Given the description of an element on the screen output the (x, y) to click on. 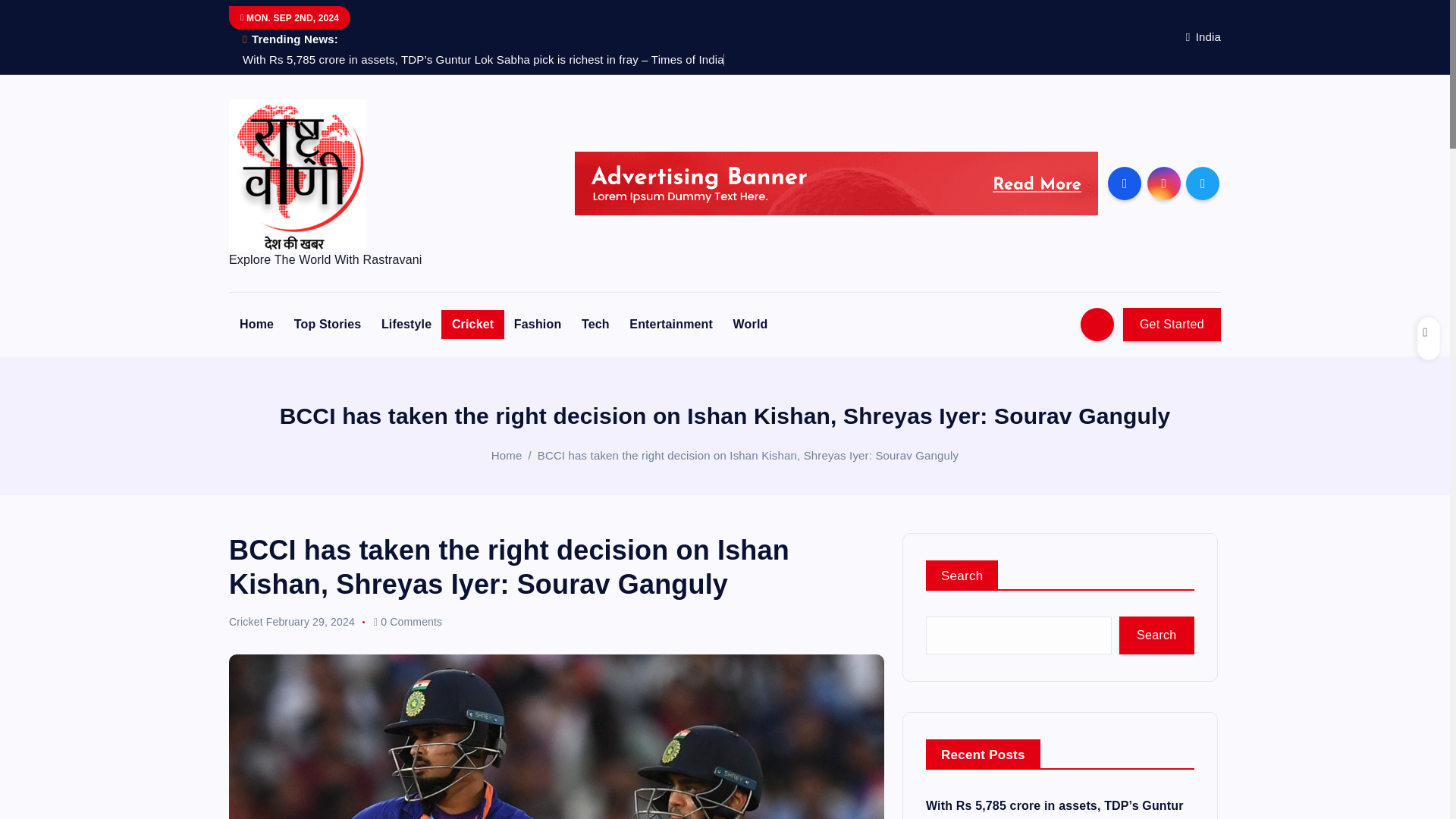
World (750, 324)
Top Stories (327, 324)
Fashion (537, 324)
Cricket (472, 324)
Get Started (1171, 324)
Top Stories (327, 324)
Home (255, 324)
Tech (595, 324)
Home (507, 454)
Tech (595, 324)
